Given the description of an element on the screen output the (x, y) to click on. 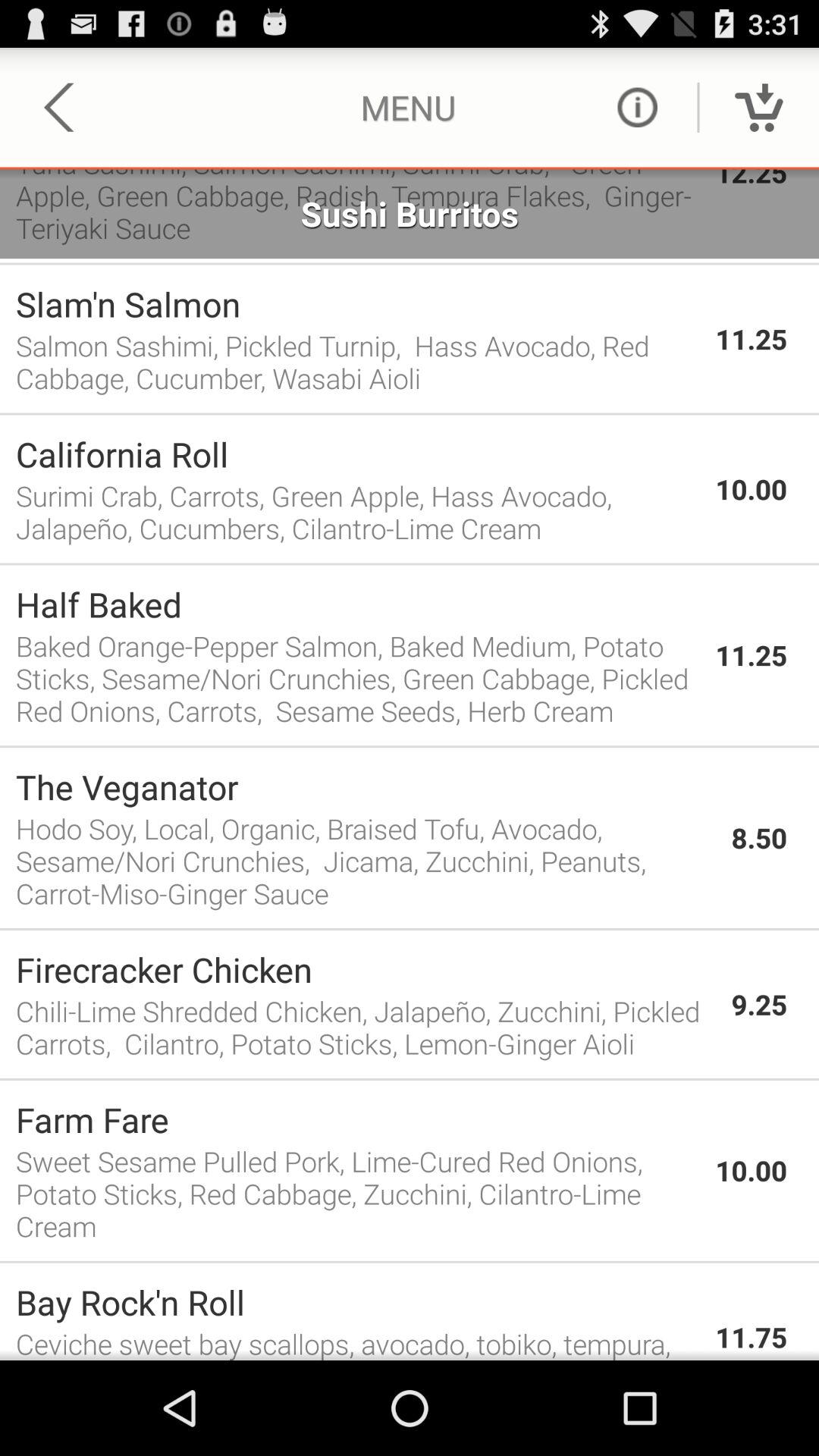
turn on sweet sesame pulled item (357, 1193)
